Given the description of an element on the screen output the (x, y) to click on. 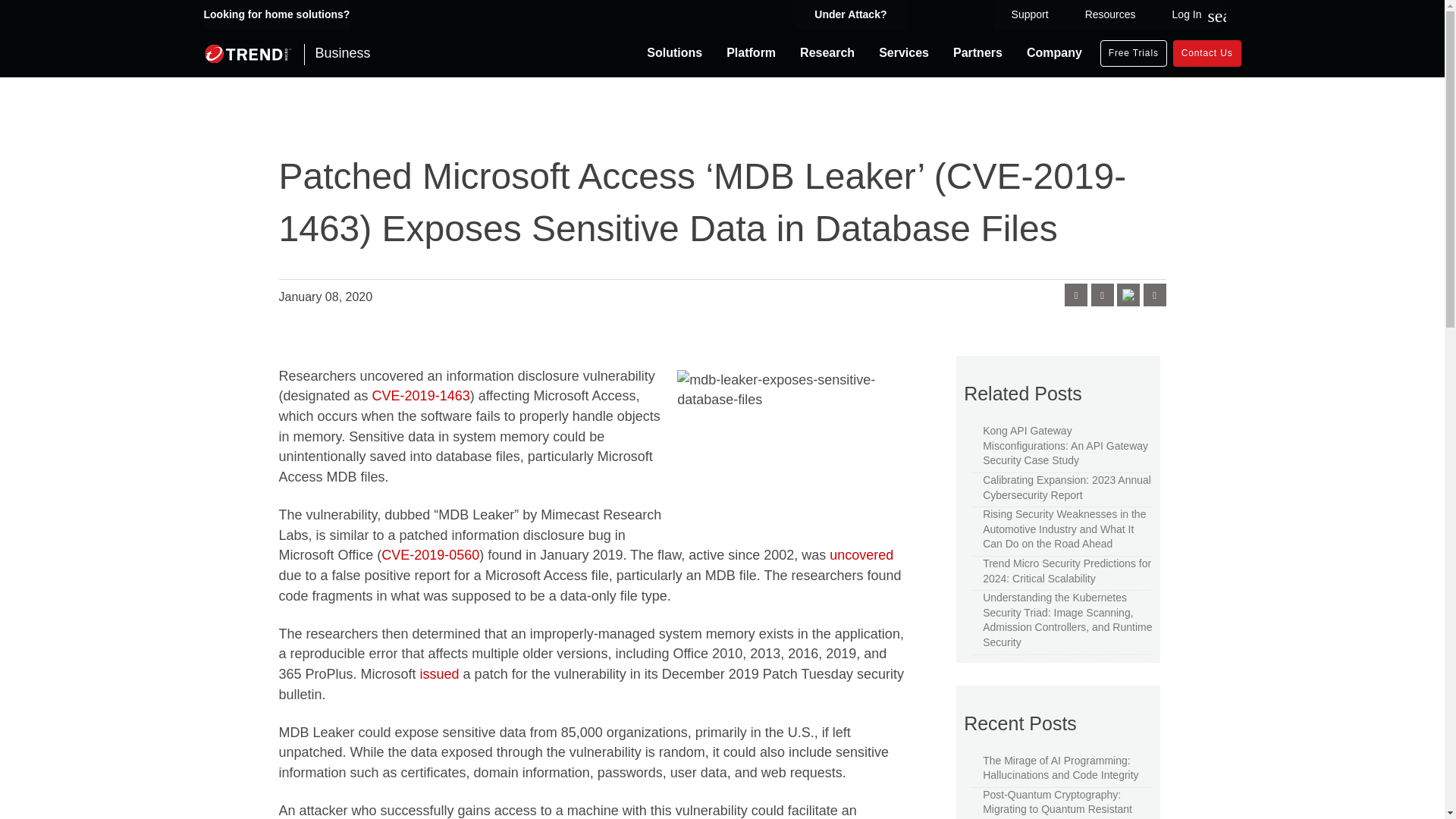
Business (286, 53)
